Given the description of an element on the screen output the (x, y) to click on. 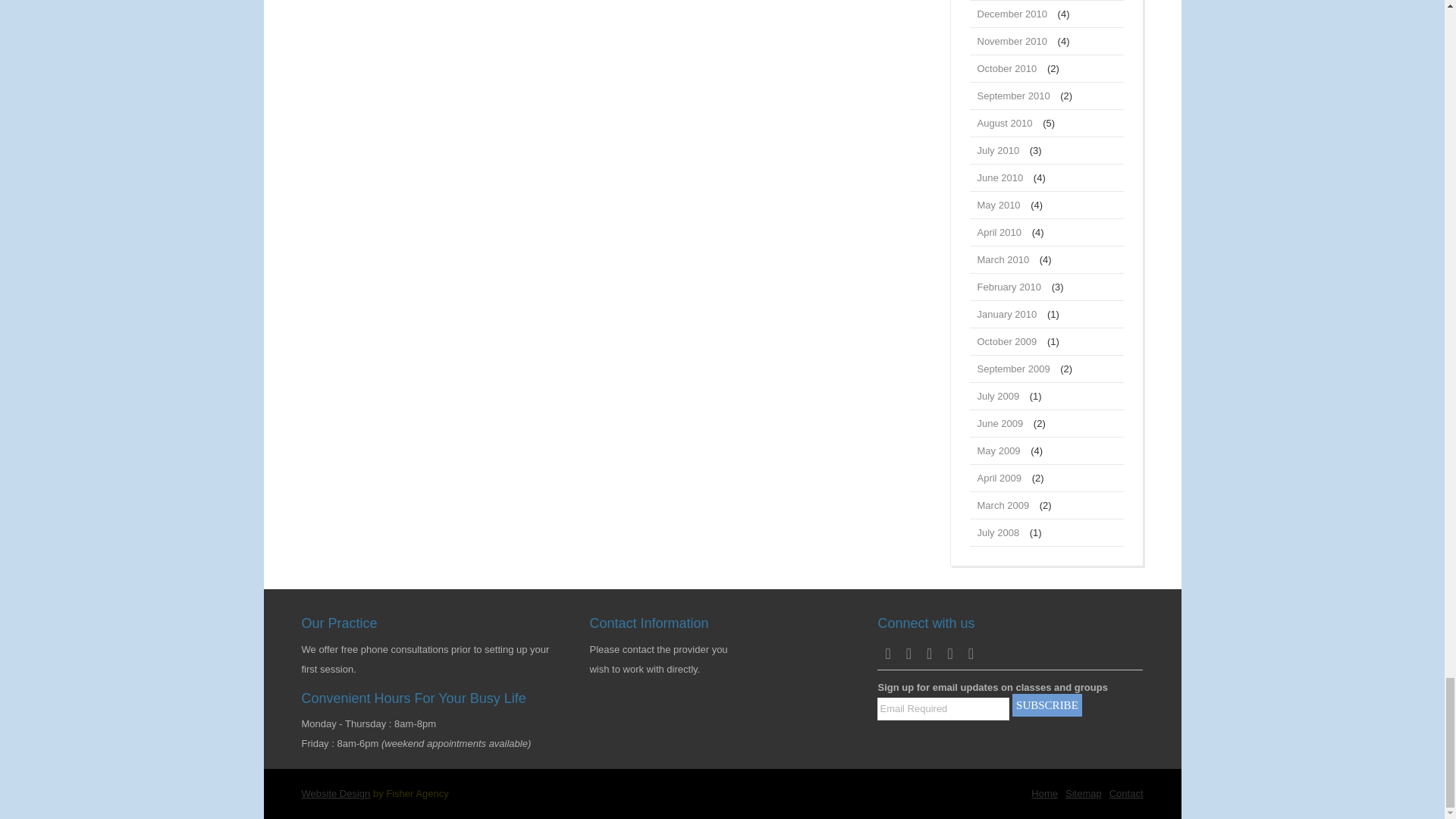
Subscribe (1046, 704)
Email Required (943, 708)
